Given the description of an element on the screen output the (x, y) to click on. 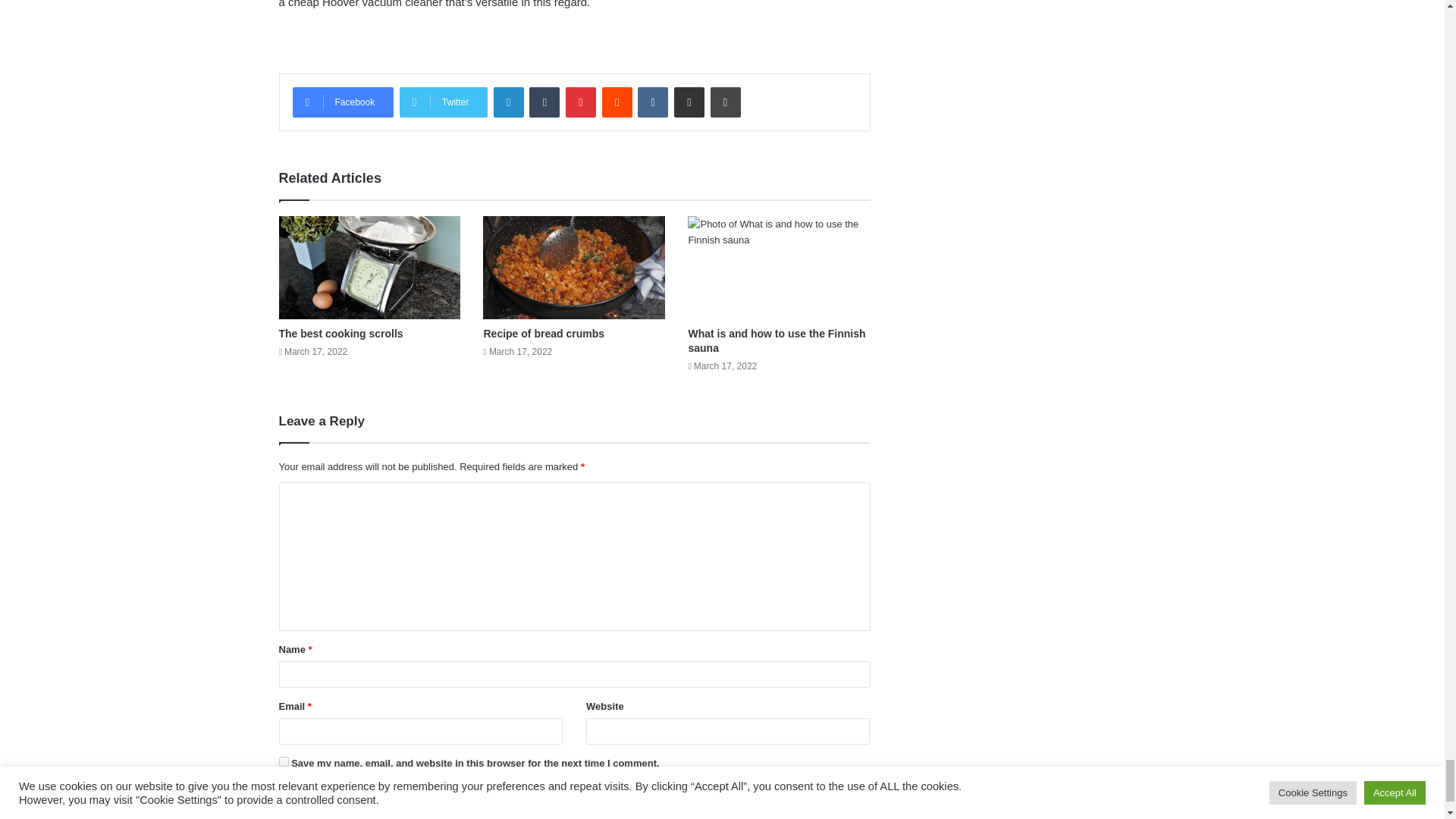
The best cooking scrolls (341, 333)
Recipe of bread crumbs (543, 333)
yes (283, 761)
Tumblr (544, 101)
Reddit (616, 101)
Facebook (343, 101)
Pinterest (580, 101)
VKontakte (652, 101)
Facebook (343, 101)
Share via Email (689, 101)
Tumblr (544, 101)
LinkedIn (508, 101)
VKontakte (652, 101)
Reddit (616, 101)
Pinterest (580, 101)
